Given the description of an element on the screen output the (x, y) to click on. 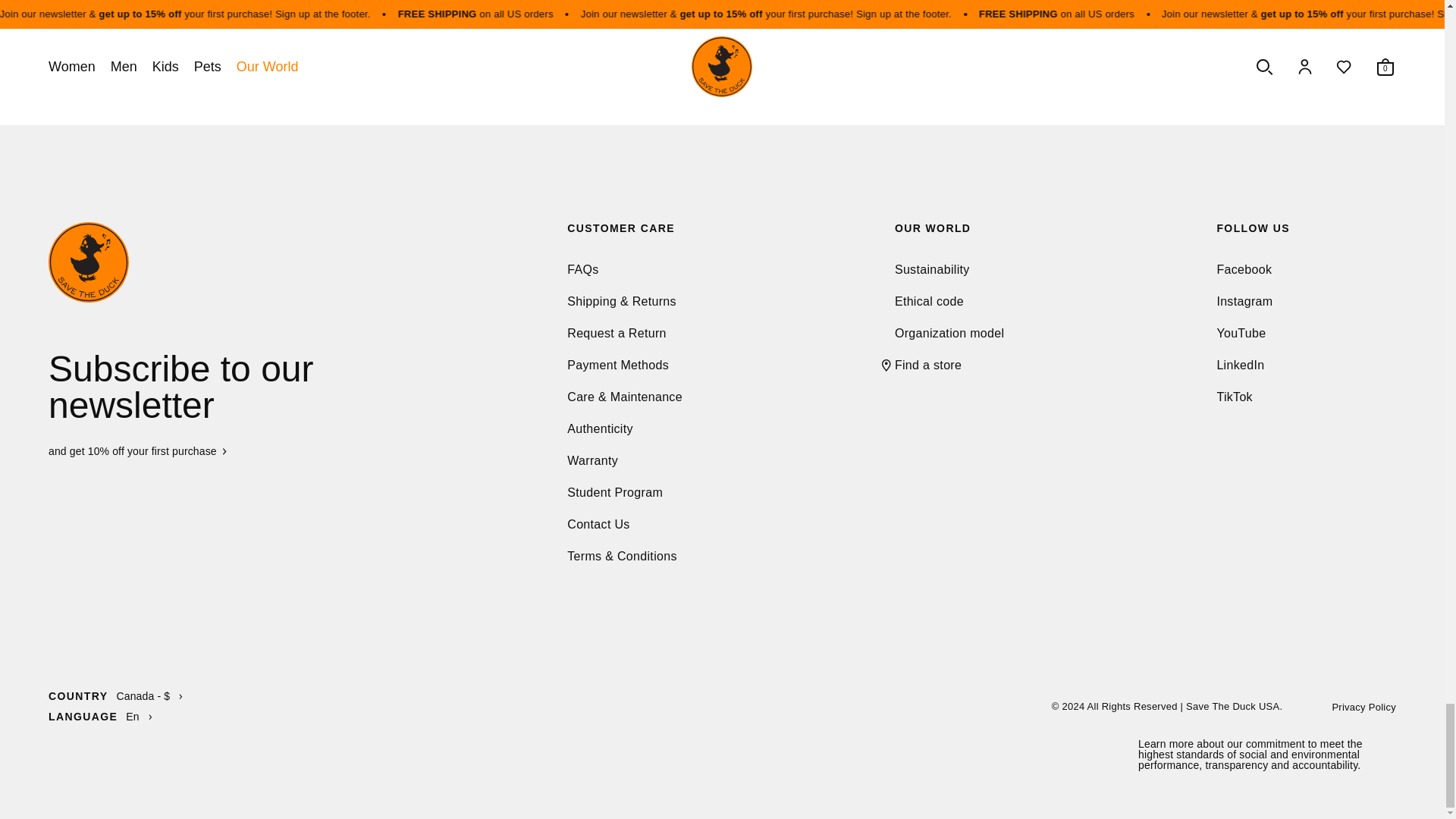
Save The Duck USA (248, 261)
